Given the description of an element on the screen output the (x, y) to click on. 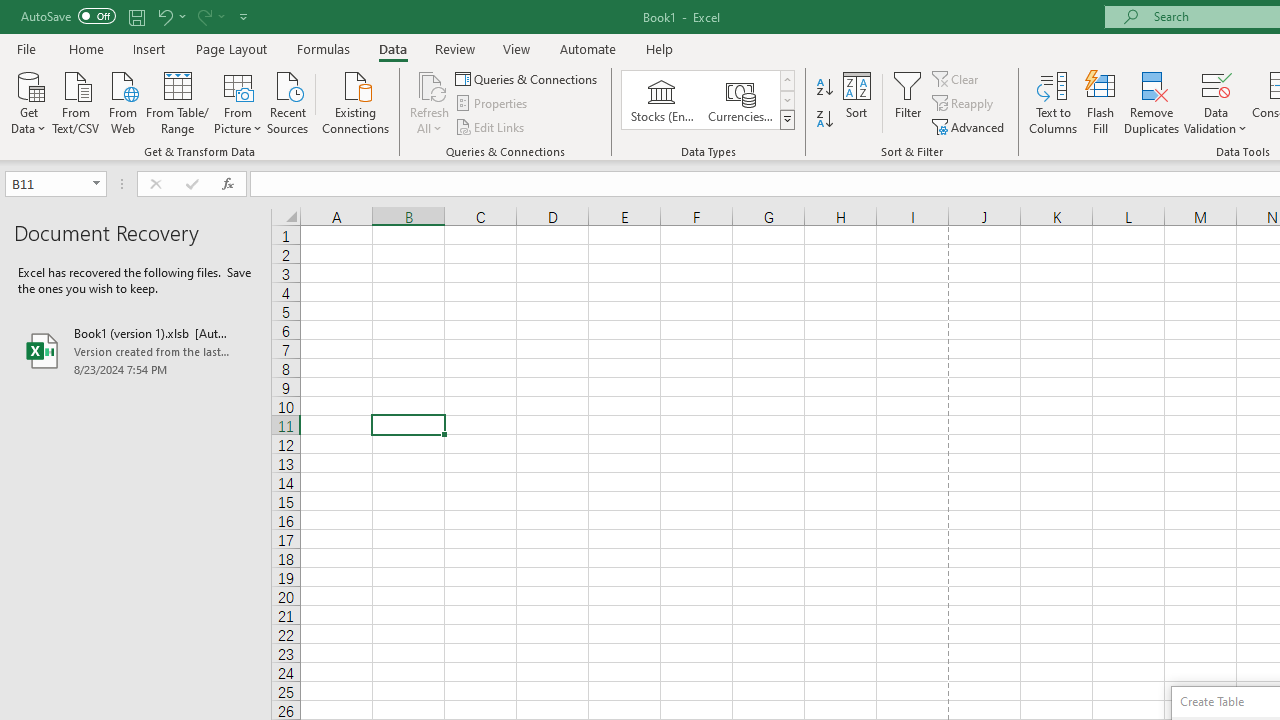
Reapply (964, 103)
Edit Links (491, 126)
Text to Columns... (1053, 102)
Sort... (856, 102)
Flash Fill (1101, 102)
